Given the description of an element on the screen output the (x, y) to click on. 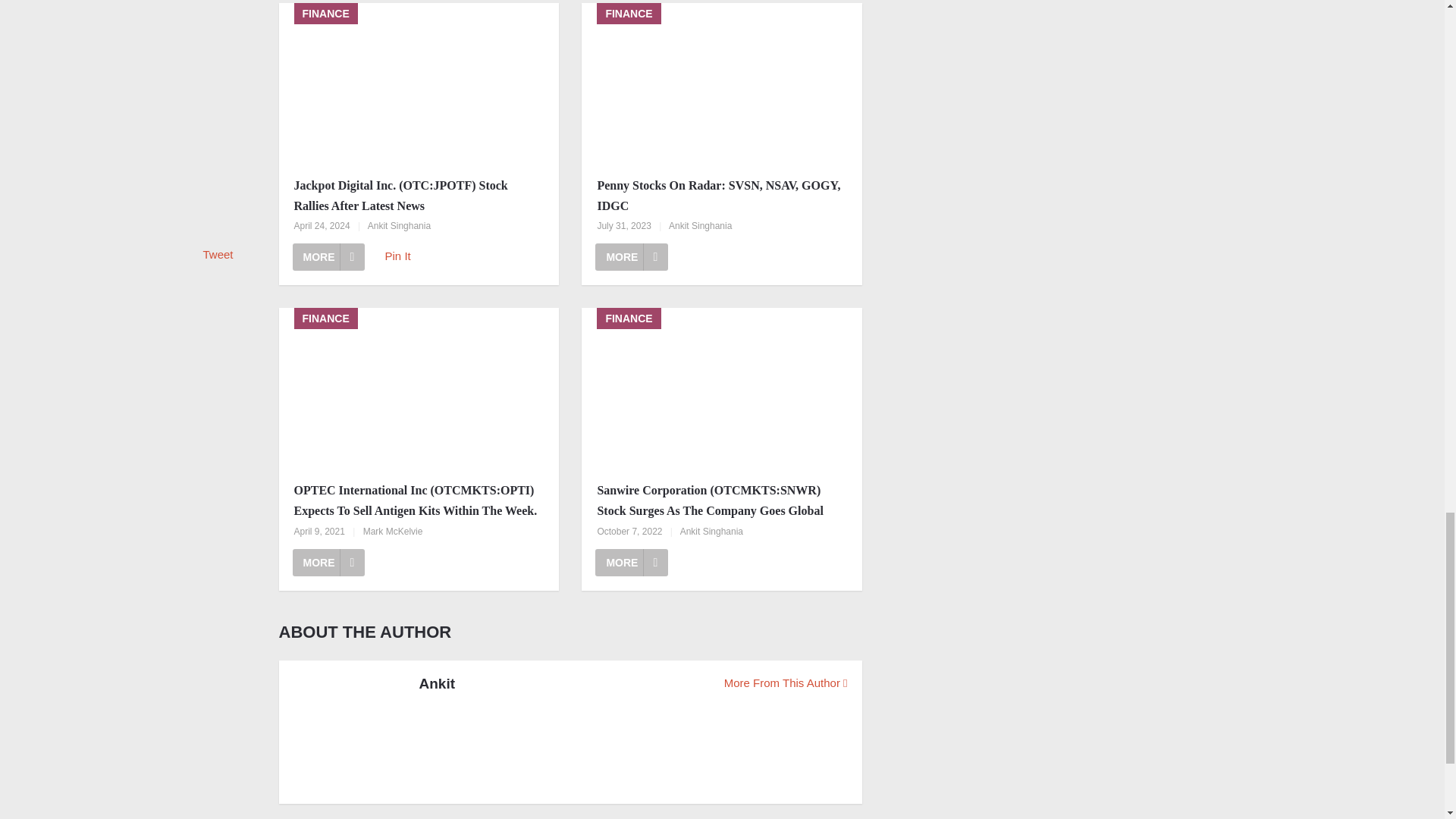
Ankit (436, 683)
Posts by Ankit Singhania (700, 225)
Posts by Mark McKelvie (392, 531)
Posts by Ankit Singhania (399, 225)
FINANCE (720, 84)
MORE (328, 562)
FINANCE (419, 388)
More From This Author (785, 682)
Mark McKelvie (392, 531)
Penny Stocks On Radar: SVSN, NSAV, GOGY, IDGC (721, 195)
